Given the description of an element on the screen output the (x, y) to click on. 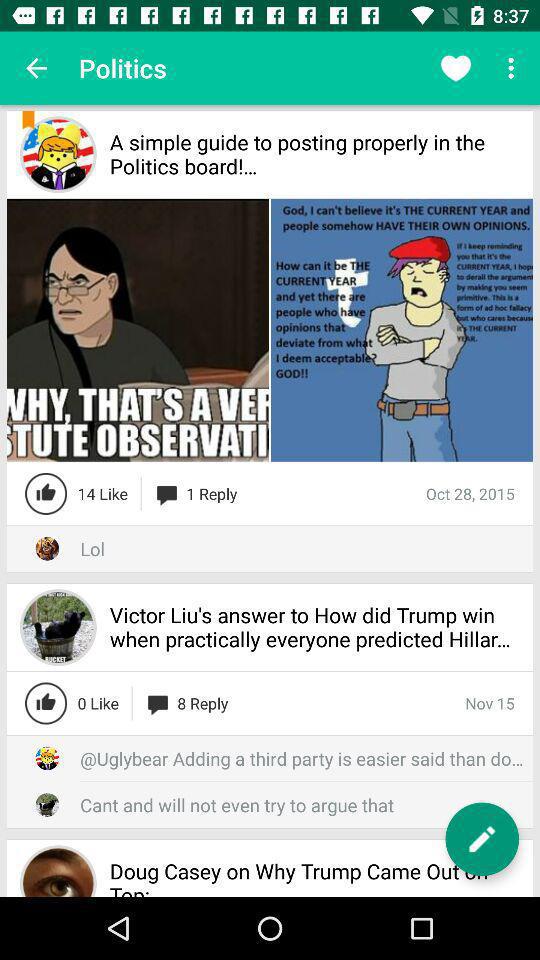
like this post (46, 703)
